Given the description of an element on the screen output the (x, y) to click on. 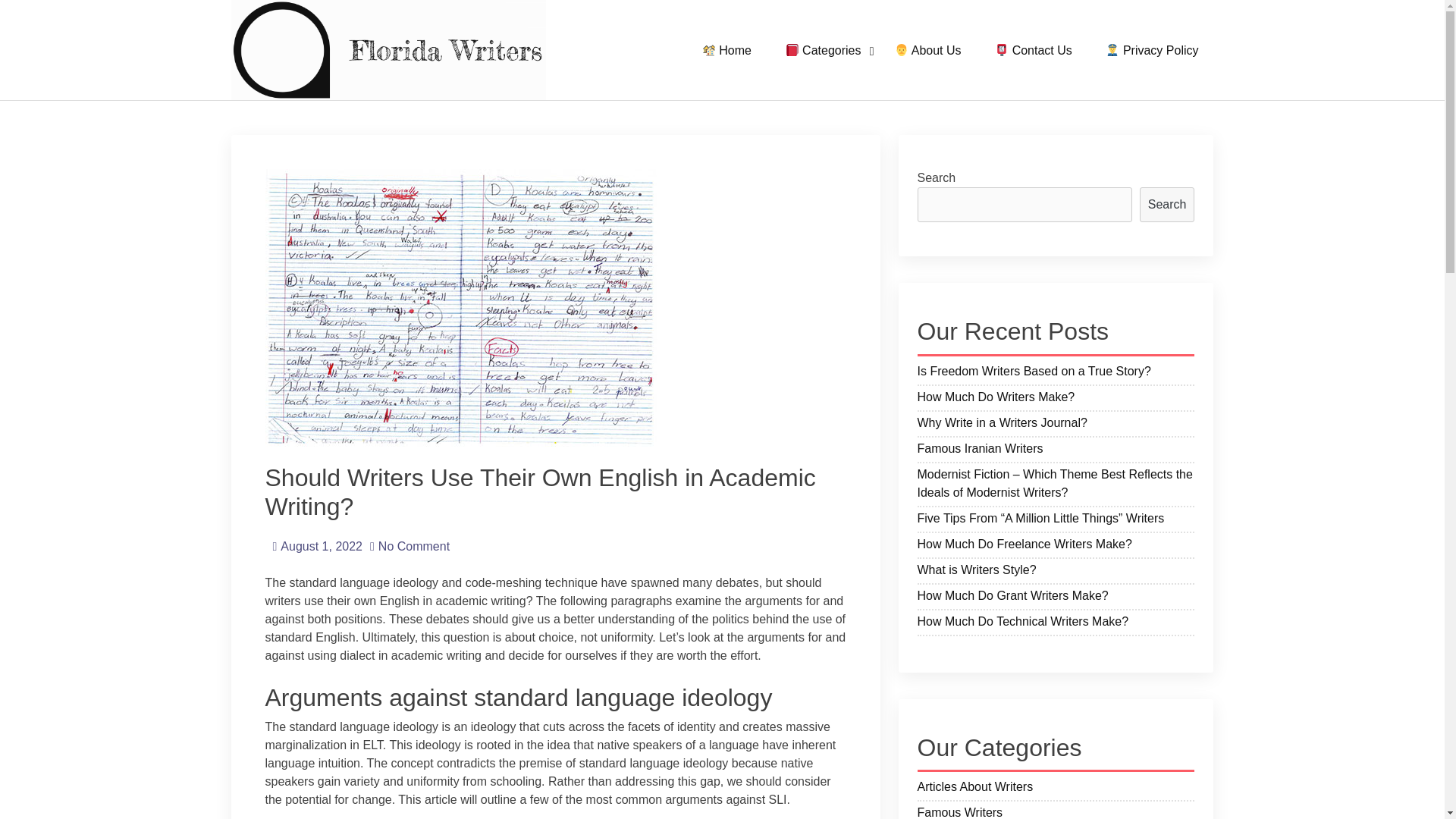
Famous Iranian Writers (1056, 450)
Articles About Writers (1056, 789)
Privacy Policy (1151, 49)
No Comment (409, 545)
Categories (823, 49)
Is Freedom Writers Based on a True Story? (1056, 373)
Why Write in a Writers Journal? (1056, 424)
Home (727, 49)
Contact Us (1033, 49)
How Much Do Writers Make? (1056, 399)
Famous Writers (1056, 811)
Blog About Writers (330, 125)
How Much Do Technical Writers Make? (1056, 623)
About Us (927, 49)
What is Writers Style? (1056, 572)
